Given the description of an element on the screen output the (x, y) to click on. 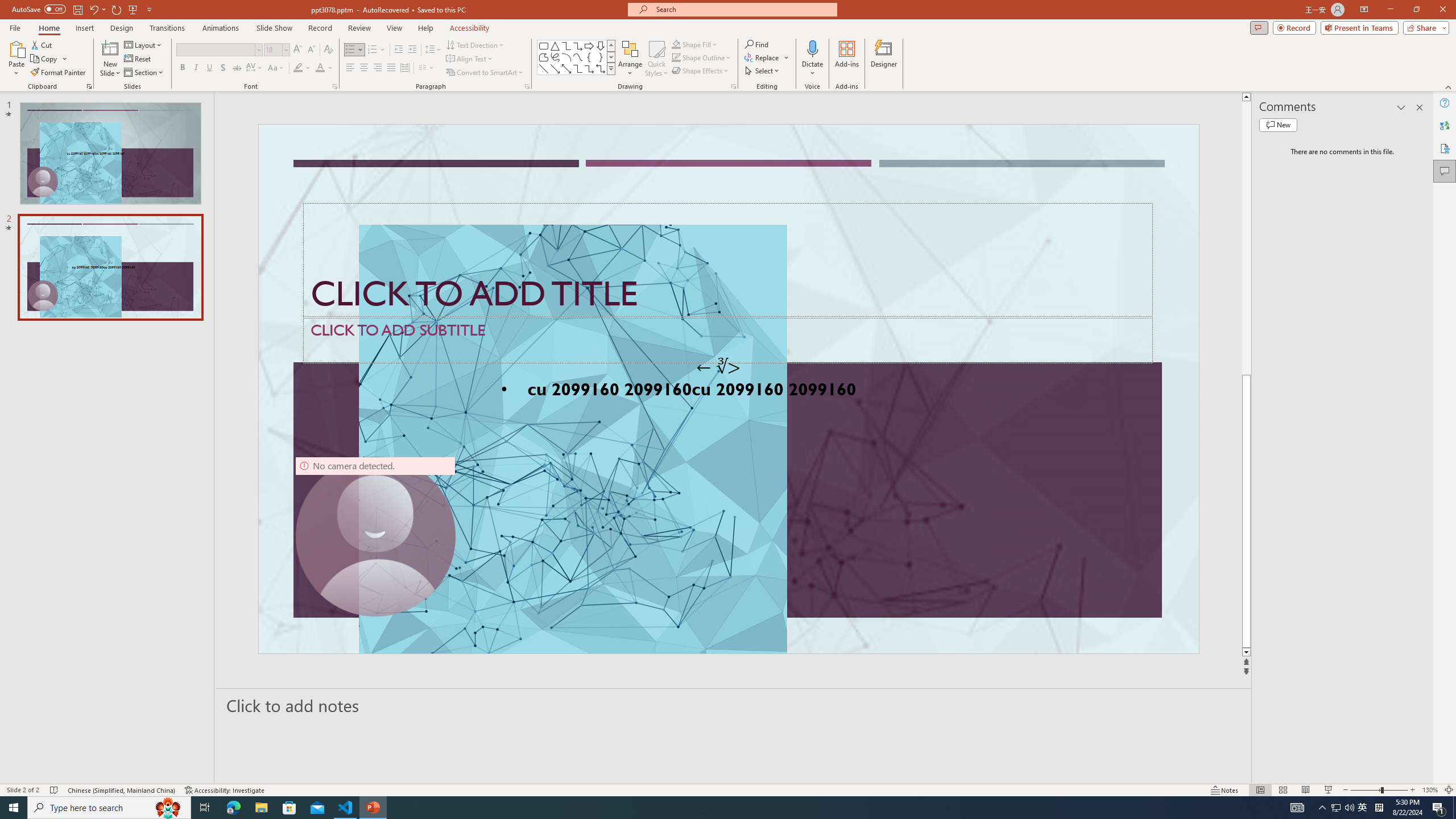
Design (122, 28)
Left Brace (589, 57)
Font Color (324, 67)
Bullets (354, 49)
AutoSave (38, 9)
Strikethrough (237, 67)
Cut (42, 44)
Text Direction (476, 44)
Font Size (276, 49)
Line Arrow (554, 68)
Section (144, 72)
Zoom 130% (1430, 790)
Rectangle: Rounded Corners (543, 45)
